Given the description of an element on the screen output the (x, y) to click on. 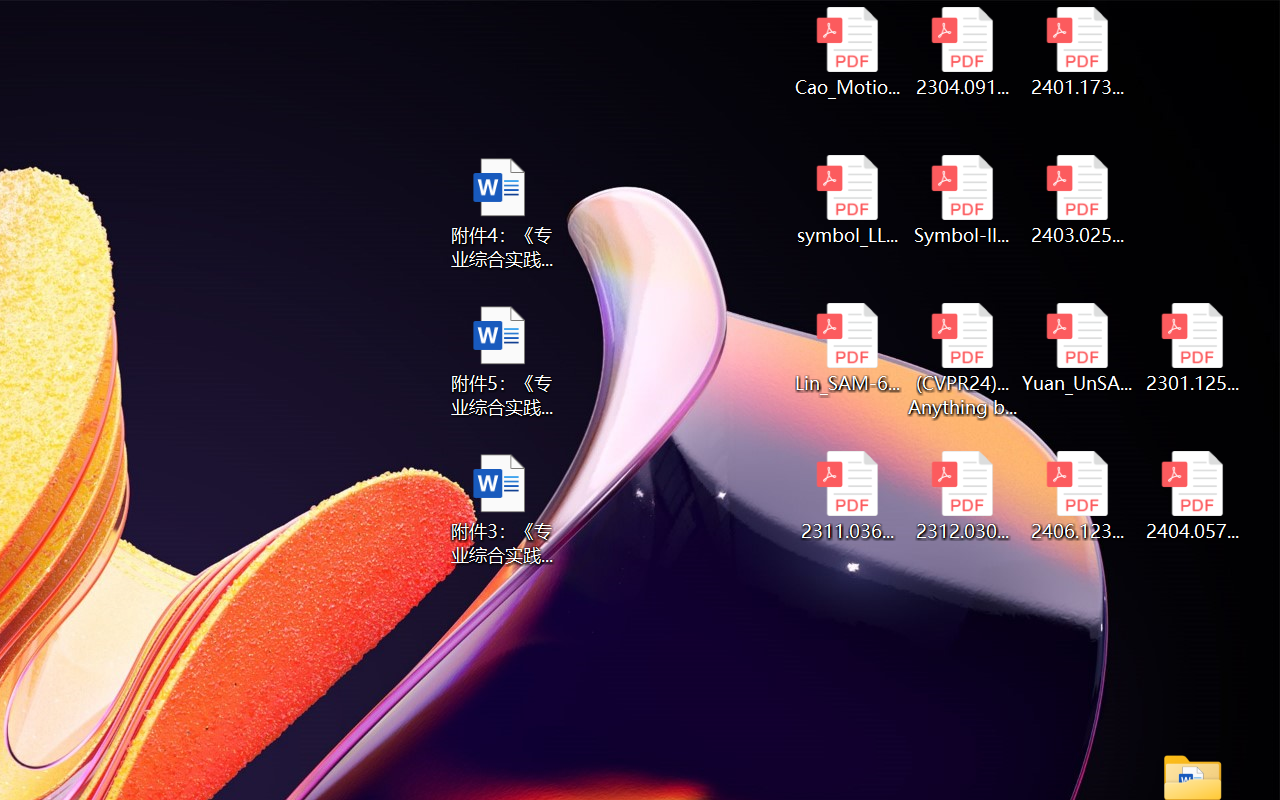
2406.12373v2.pdf (1077, 496)
2401.17399v1.pdf (1077, 52)
2403.02502v1.pdf (1077, 200)
2312.03032v2.pdf (962, 496)
2304.09121v3.pdf (962, 52)
2311.03658v2.pdf (846, 496)
2301.12597v3.pdf (1192, 348)
(CVPR24)Matching Anything by Segmenting Anything.pdf (962, 360)
symbol_LLM.pdf (846, 200)
